Given the description of an element on the screen output the (x, y) to click on. 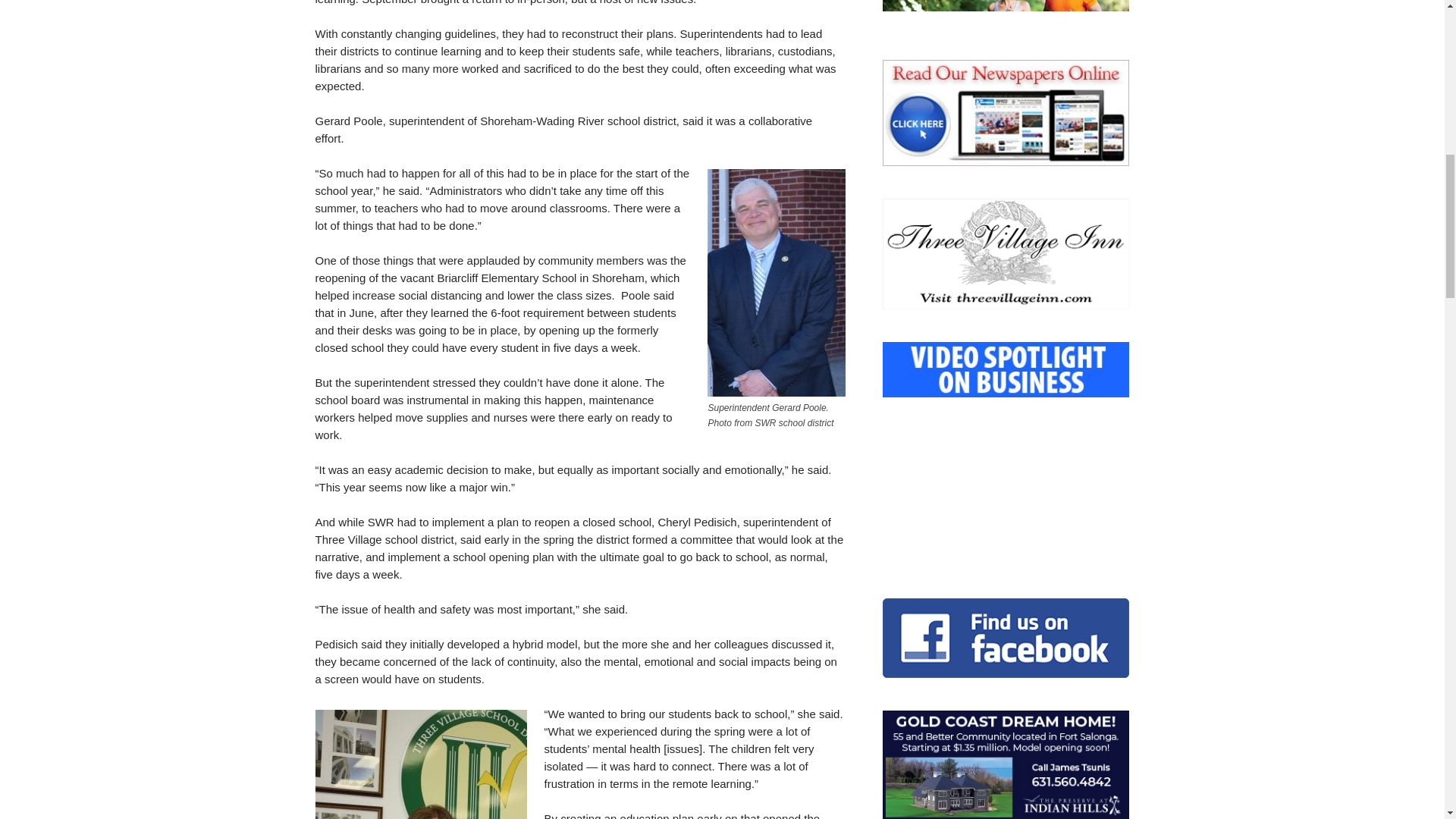
Indian Hills Living (1005, 764)
Three Village Inn (1005, 254)
YouTube video player (1005, 471)
